Given the description of an element on the screen output the (x, y) to click on. 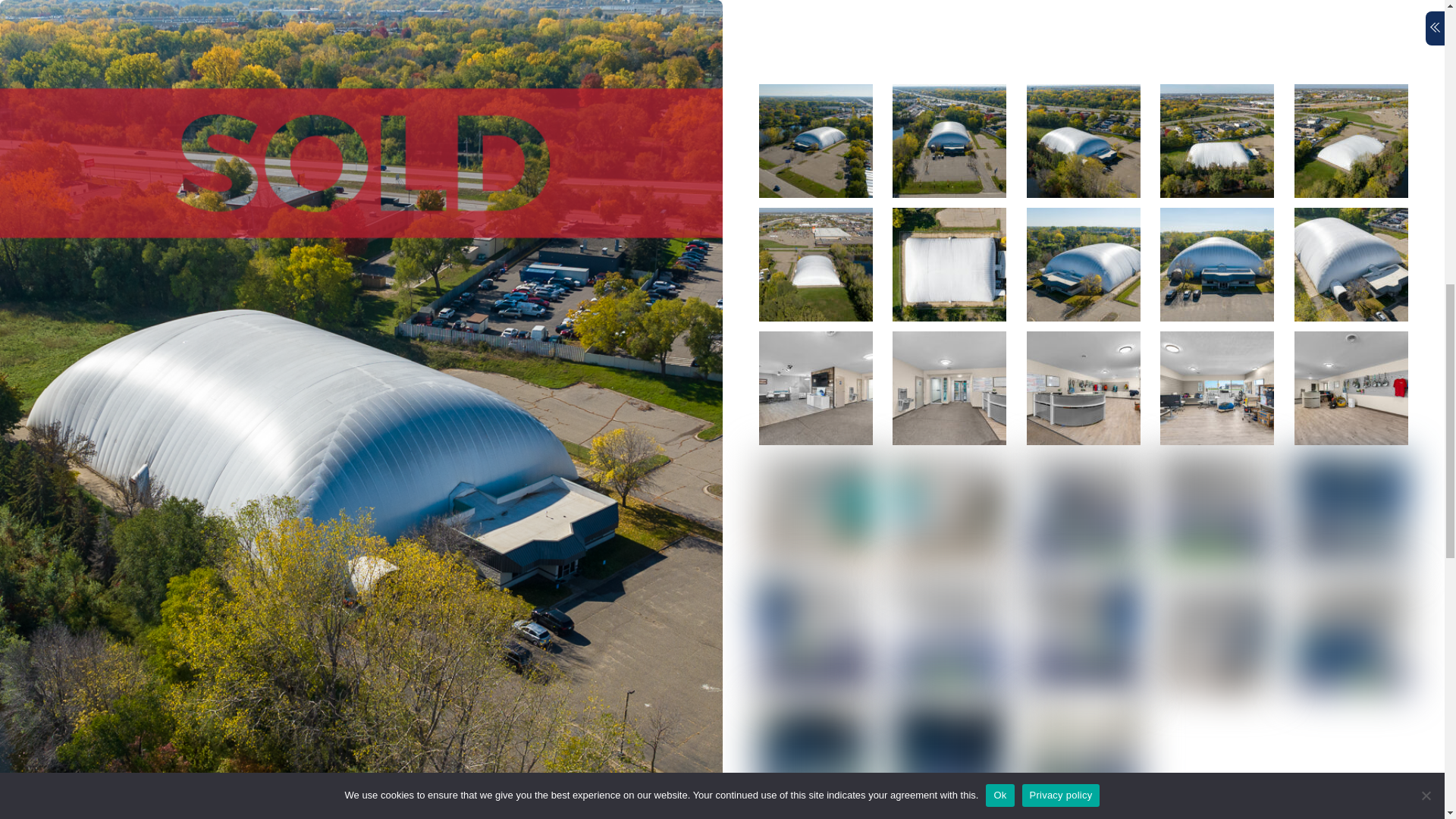
Dome Photos Web-3 (1083, 141)
Dome Photos Web-6 (815, 264)
Dome Photos Web-1 (815, 141)
Dome Photos Web-5 (1350, 141)
Dome Photos Web-4 (1217, 141)
Dome Photos Web-7 (949, 264)
Dome Photos Web-2 (949, 141)
